Given the description of an element on the screen output the (x, y) to click on. 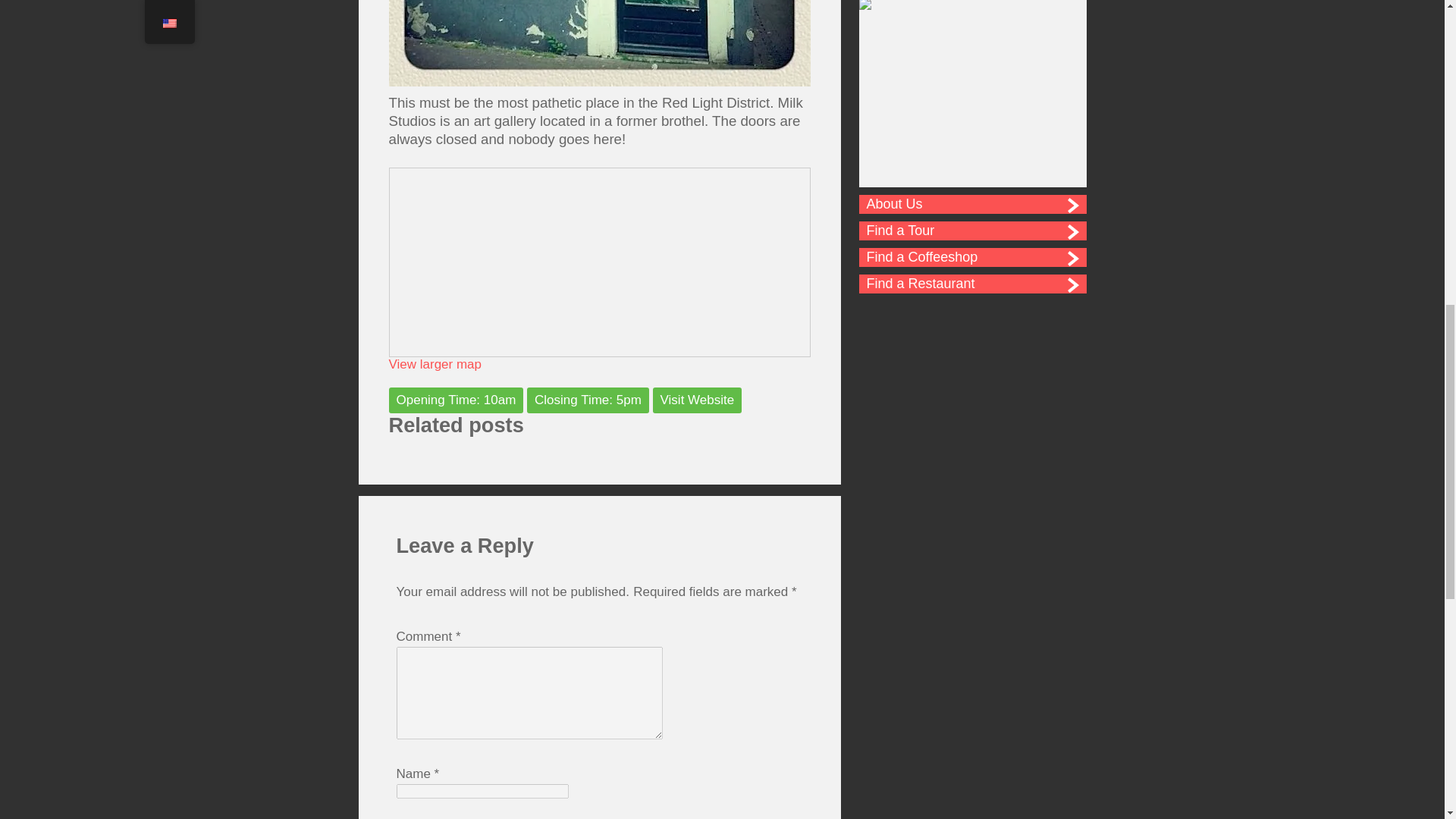
Closing Time: 5pm (588, 400)
View larger map (434, 364)
Opening Time: 10am (455, 400)
